Given the description of an element on the screen output the (x, y) to click on. 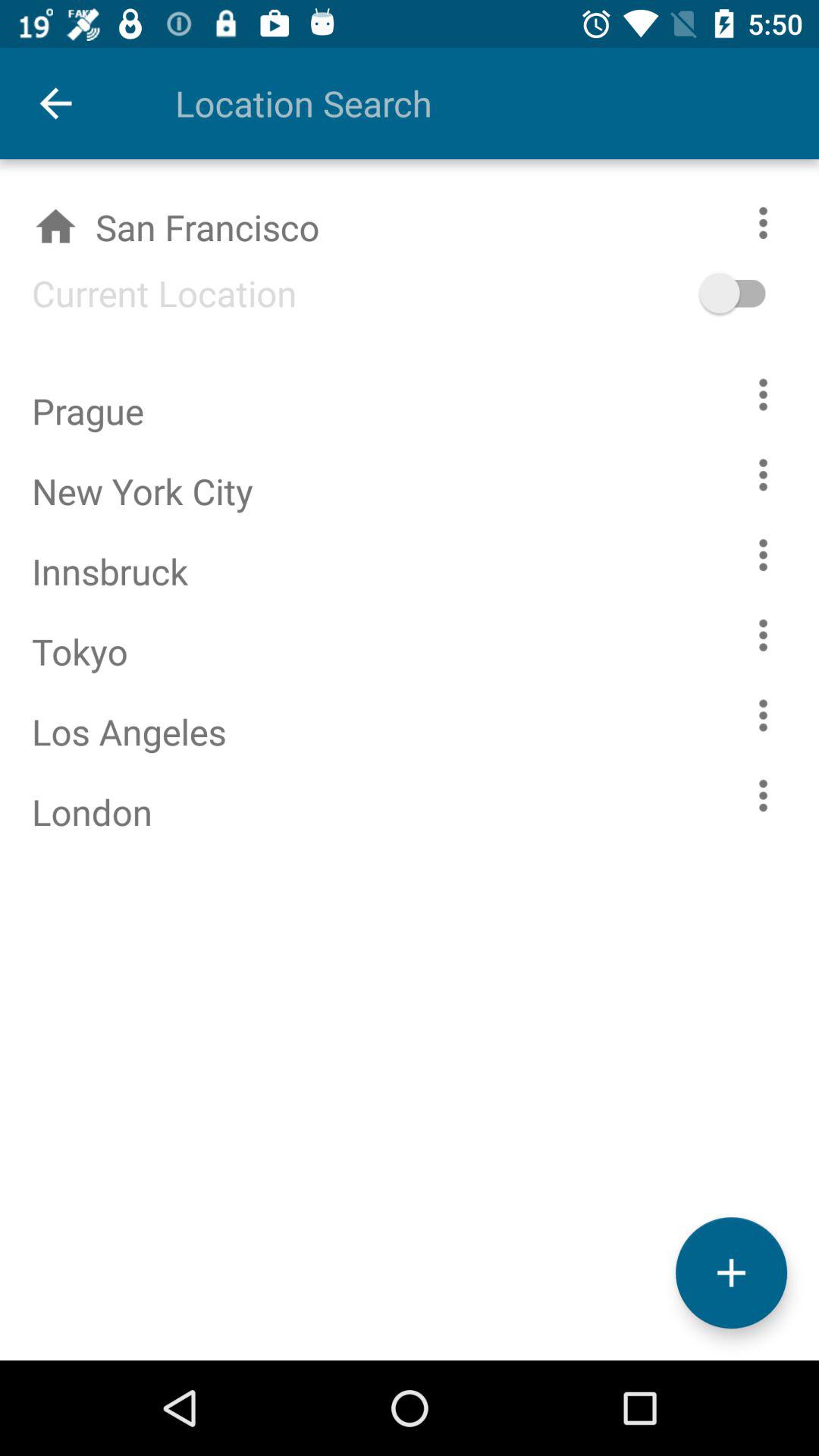
turn on current location (755, 293)
